Given the description of an element on the screen output the (x, y) to click on. 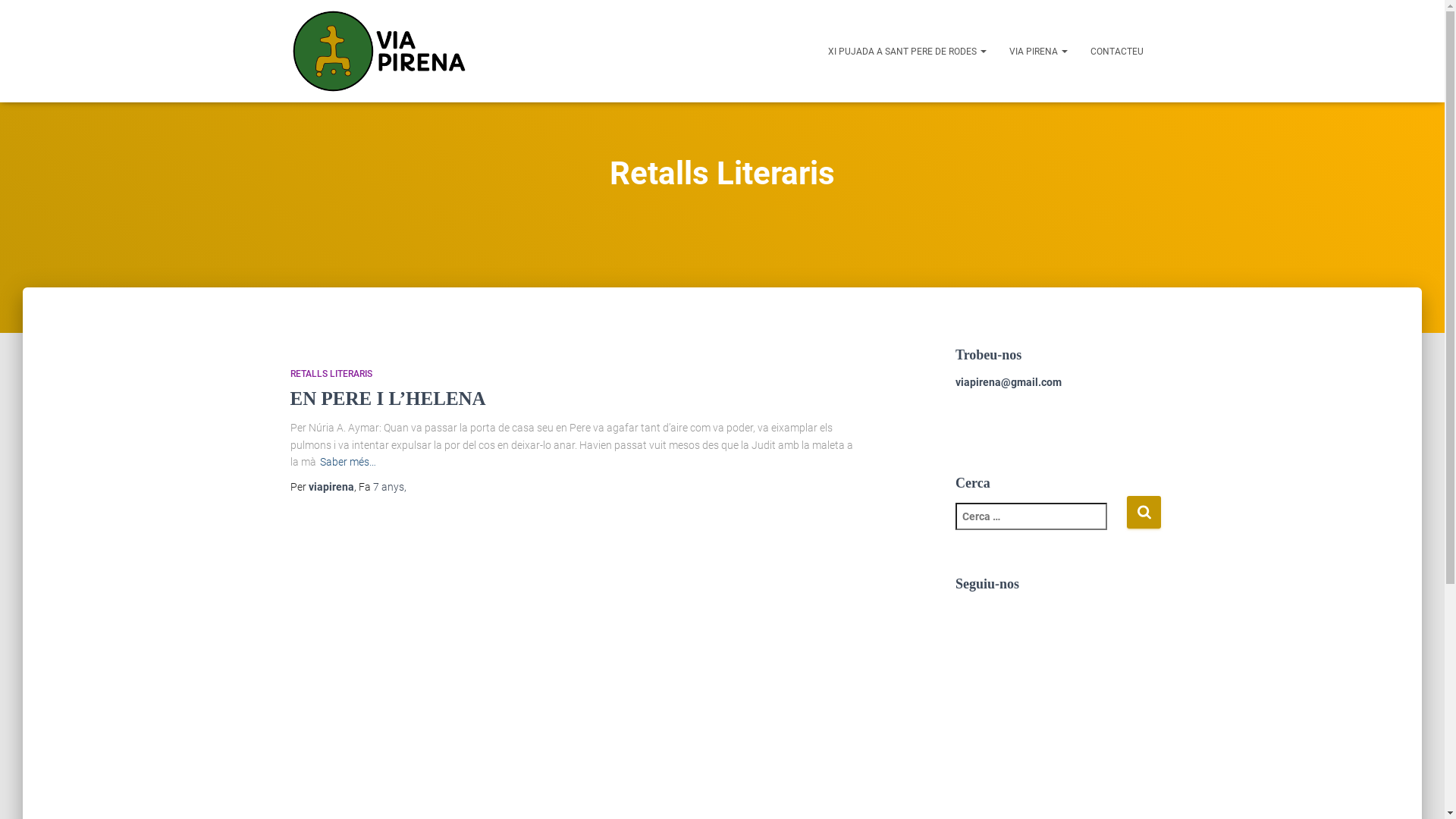
Via PIRENA  Element type: hover (379, 50)
Cerca Element type: text (1143, 511)
VIA PIRENA Element type: text (1038, 50)
XI PUJADA A SANT PERE DE RODES Element type: text (906, 50)
7 anys, Element type: text (389, 486)
CONTACTEU Element type: text (1116, 50)
viapirena Element type: text (330, 486)
RETALLS LITERARIS Element type: text (330, 373)
